Given the description of an element on the screen output the (x, y) to click on. 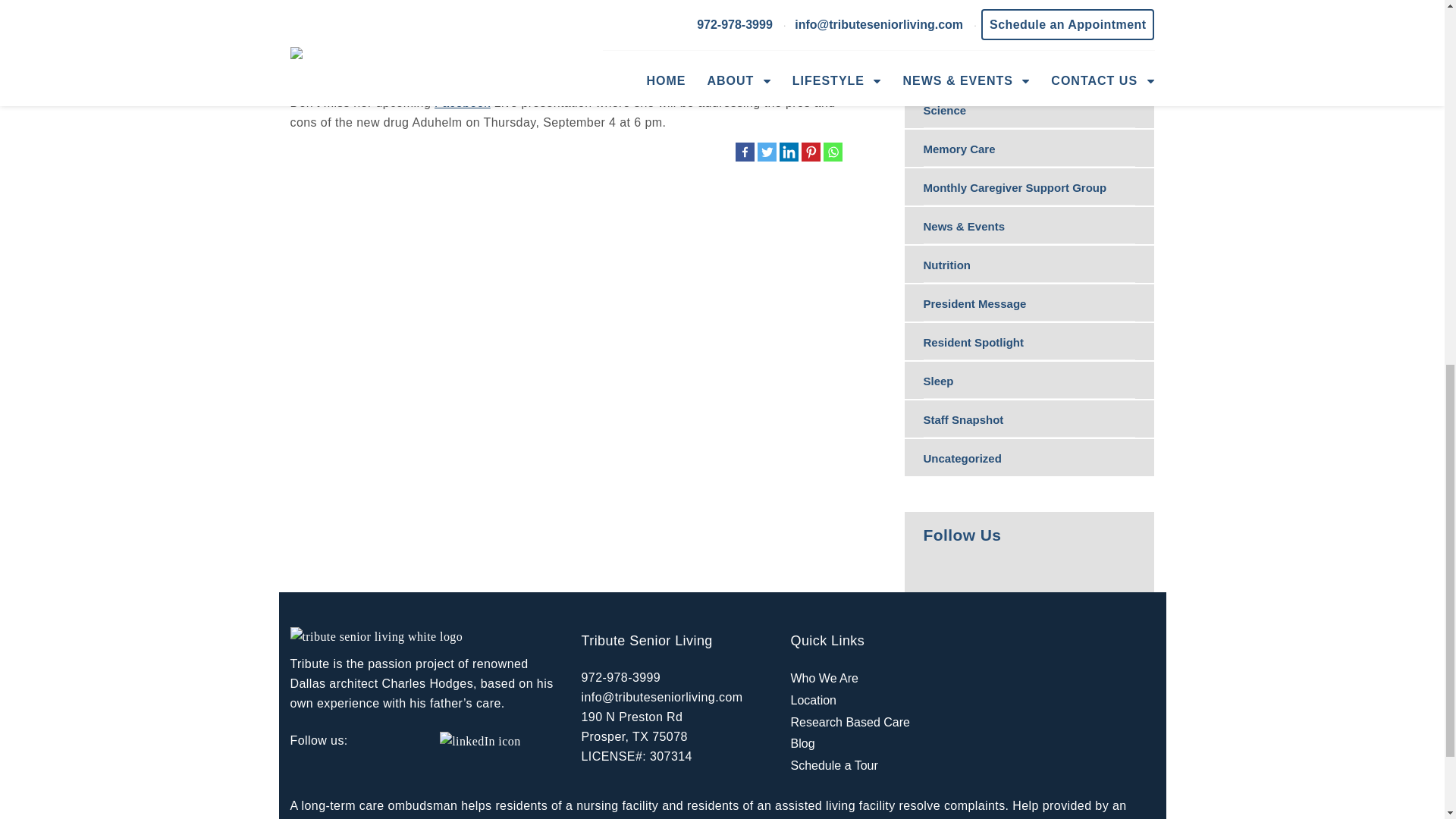
Whatsapp (833, 151)
Twitter (766, 151)
Facebook (461, 102)
Facebook (744, 151)
LinkedIn (787, 151)
Pinterest (809, 151)
